Given the description of an element on the screen output the (x, y) to click on. 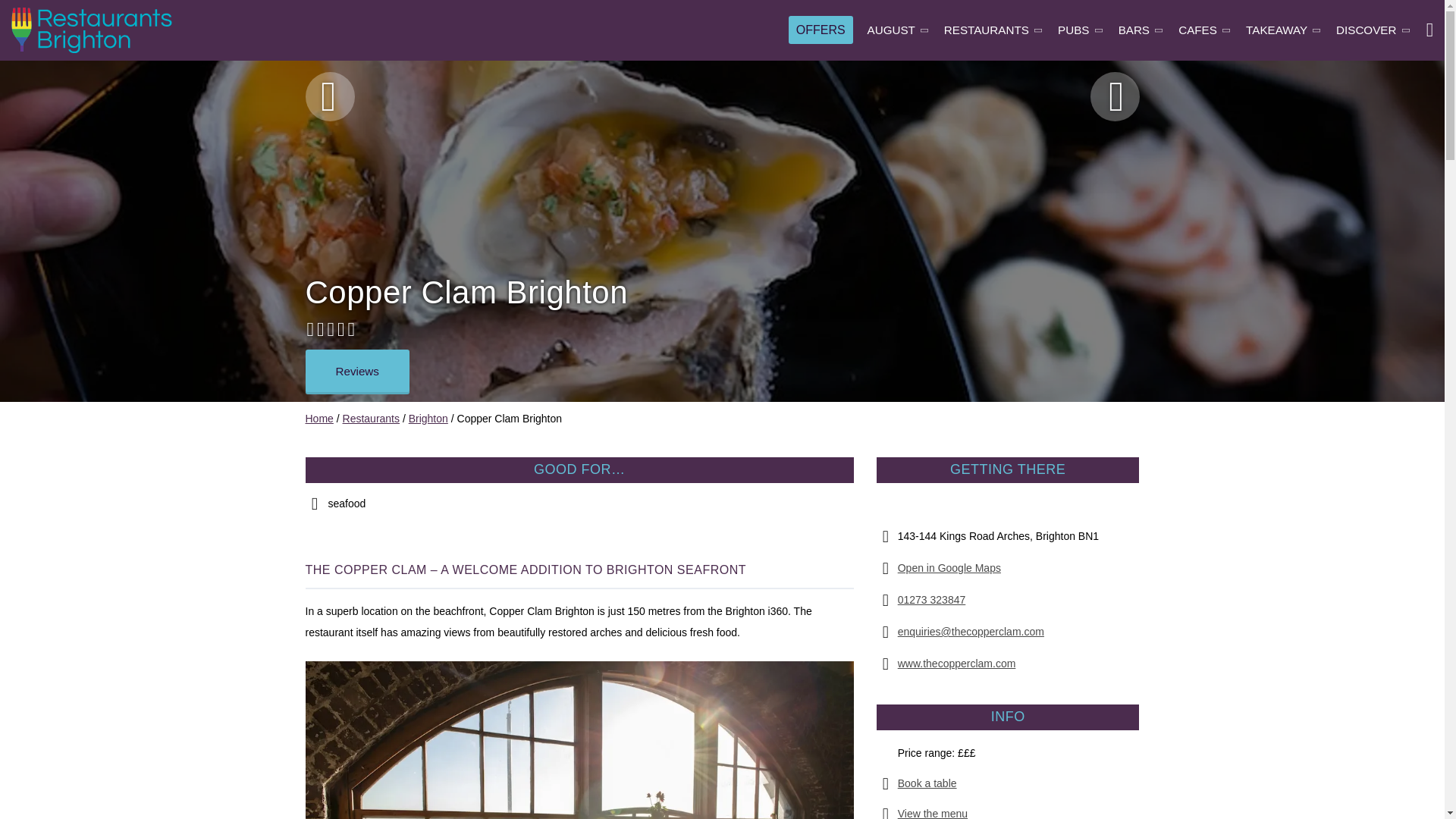
AUGUST (898, 30)
OFFERS (821, 29)
RESTAURANTS (993, 30)
